Given the description of an element on the screen output the (x, y) to click on. 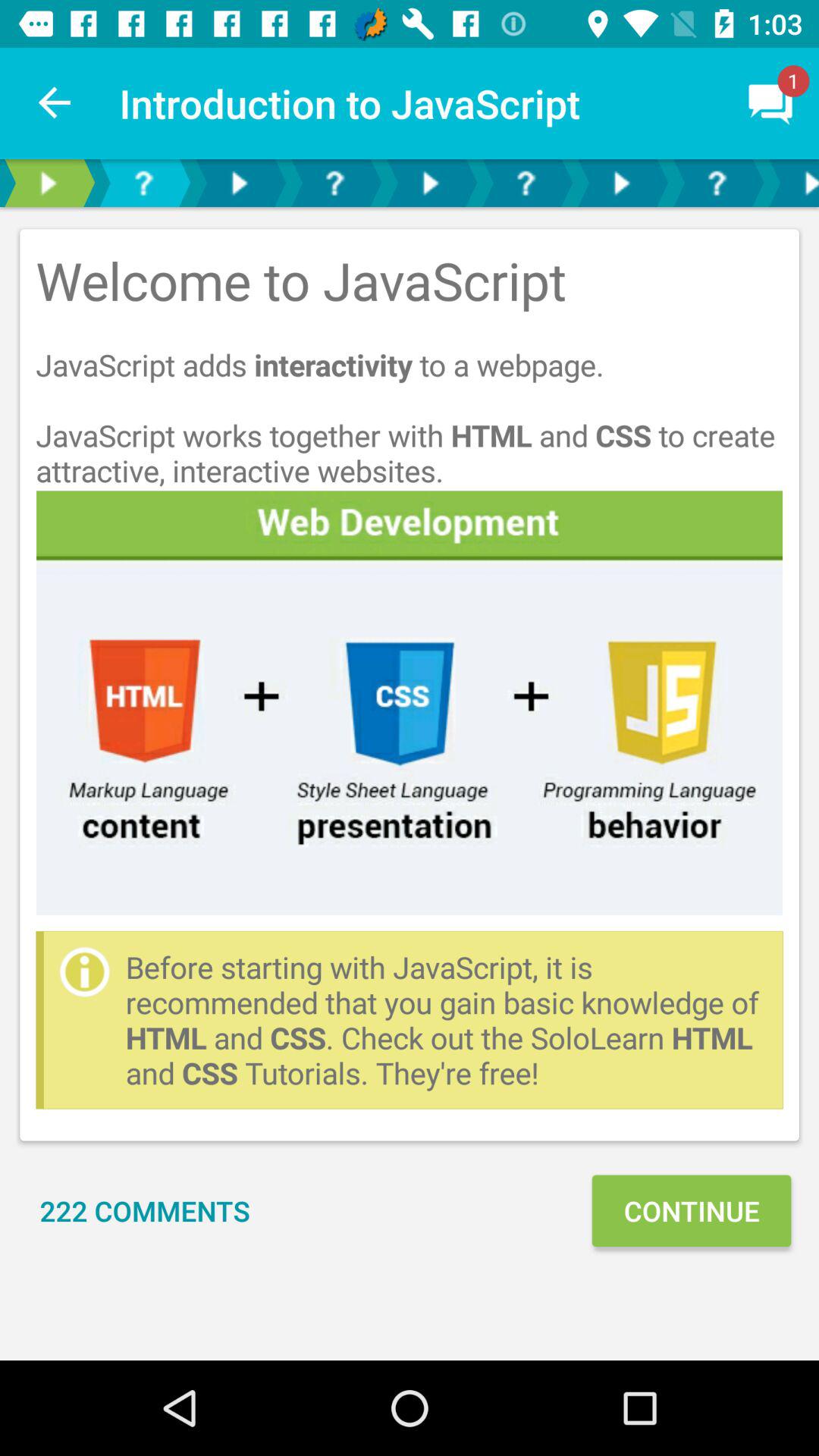
tap item to the left of continue item (144, 1210)
